Given the description of an element on the screen output the (x, y) to click on. 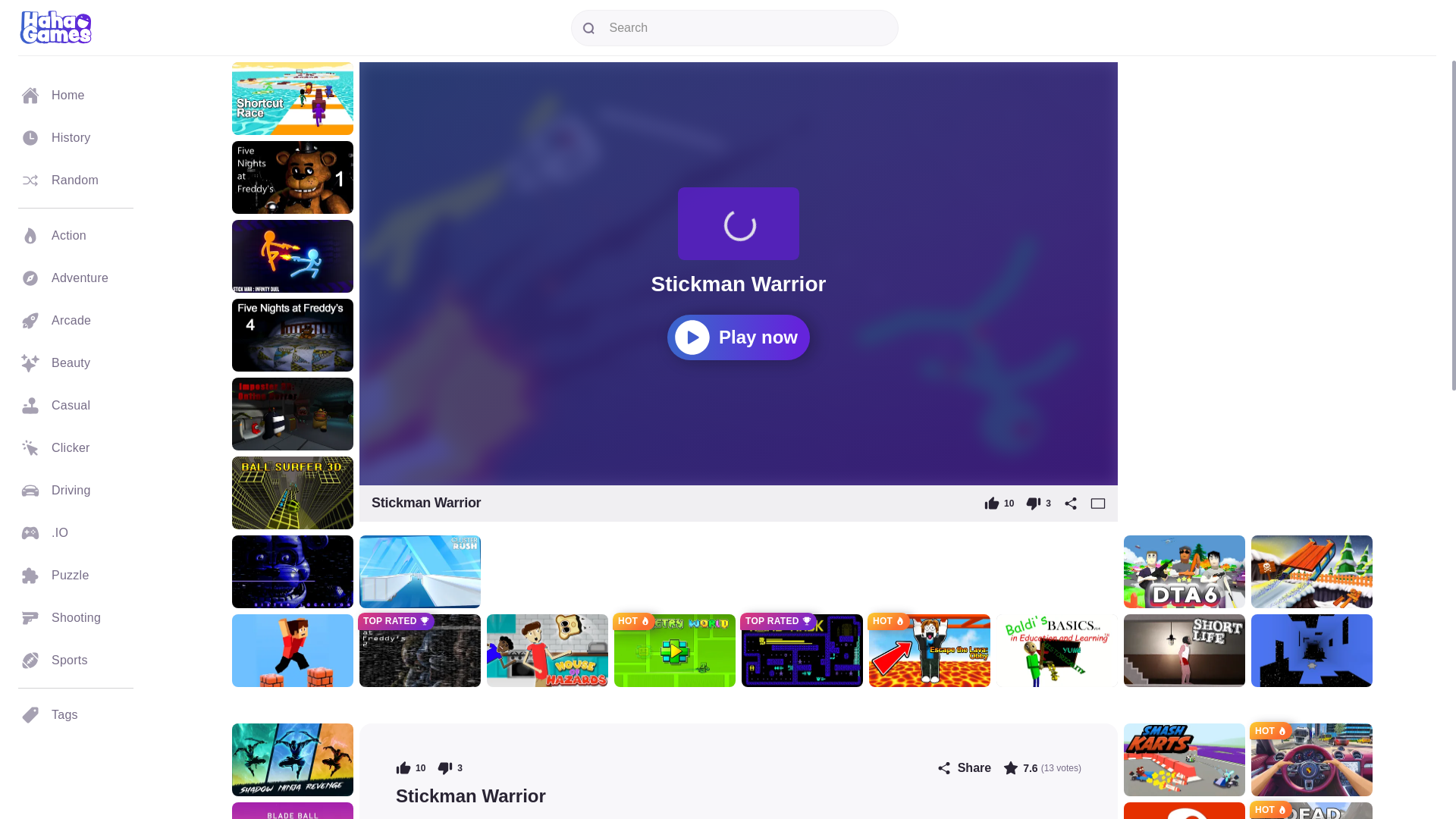
Clicker (75, 446)
3 (1038, 503)
Beauty (75, 362)
Play now (737, 337)
Puzzle (75, 574)
Driving (75, 489)
.IO (75, 532)
Adventure (75, 277)
History (75, 137)
Shooting (75, 617)
10 (998, 503)
Tags (75, 714)
Casual (75, 404)
Action (75, 234)
Random (75, 179)
